Given the description of an element on the screen output the (x, y) to click on. 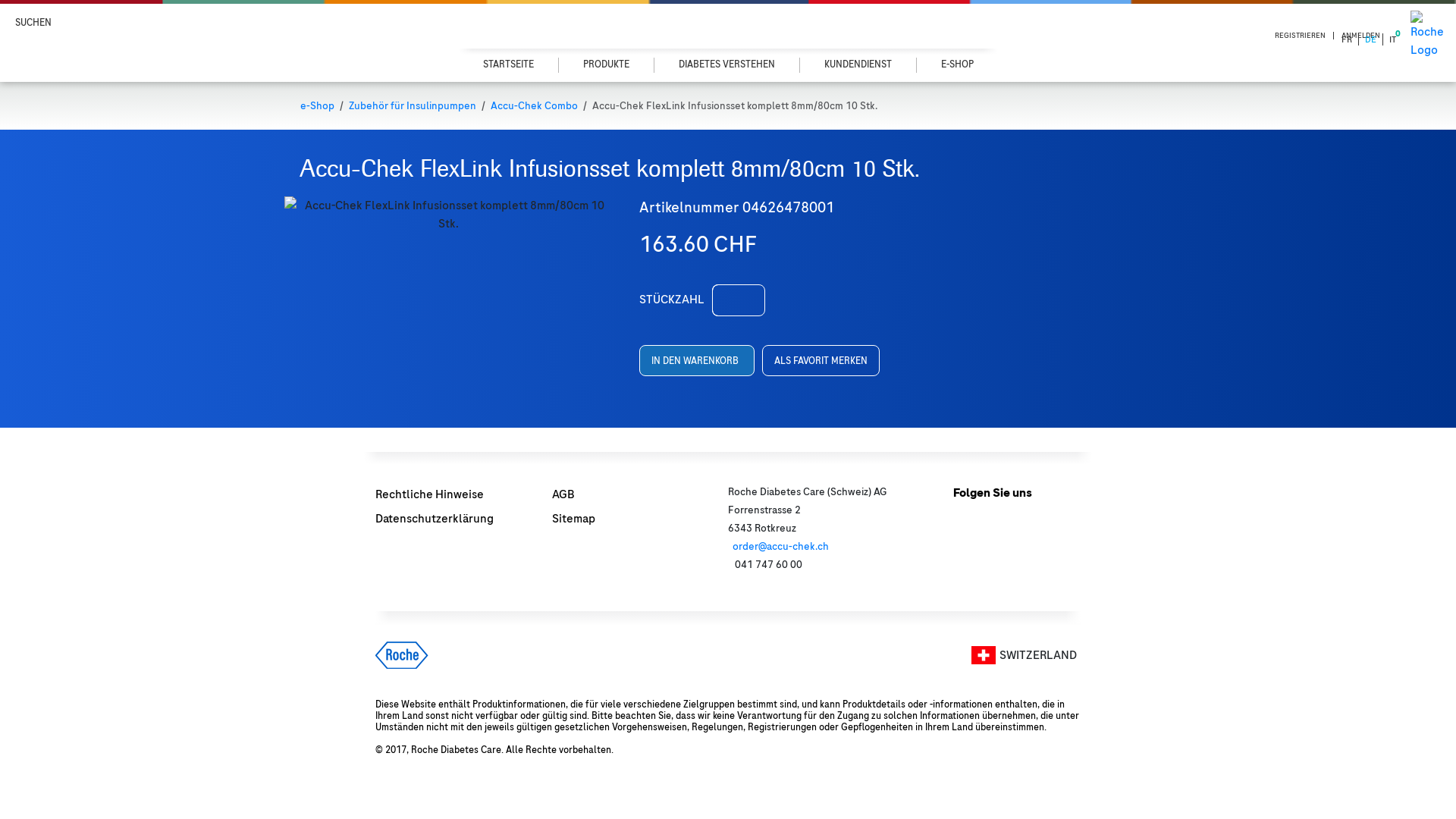
STARTSEITE Element type: text (508, 64)
AGB Element type: text (563, 494)
order@accu-chek.ch Element type: text (780, 546)
Rechtliche Hinweise Element type: text (429, 494)
ANMELDEN Element type: text (1360, 35)
PRODUKTE Element type: text (605, 64)
DIABETES VERSTEHEN Element type: text (726, 64)
e-Shop Element type: text (321, 105)
Sitemap Element type: text (573, 518)
KUNDENDIENST Element type: text (857, 64)
ALS FAVORIT MERKEN Element type: text (820, 360)
E-SHOP Element type: text (956, 64)
Roche Logo Element type: hover (401, 654)
REGISTRIEREN Element type: text (1300, 35)
Accu-Chek Combo Element type: text (538, 105)
IN DEN WARENKORB Element type: text (696, 360)
Roche Logo Element type: hover (1427, 34)
